Given the description of an element on the screen output the (x, y) to click on. 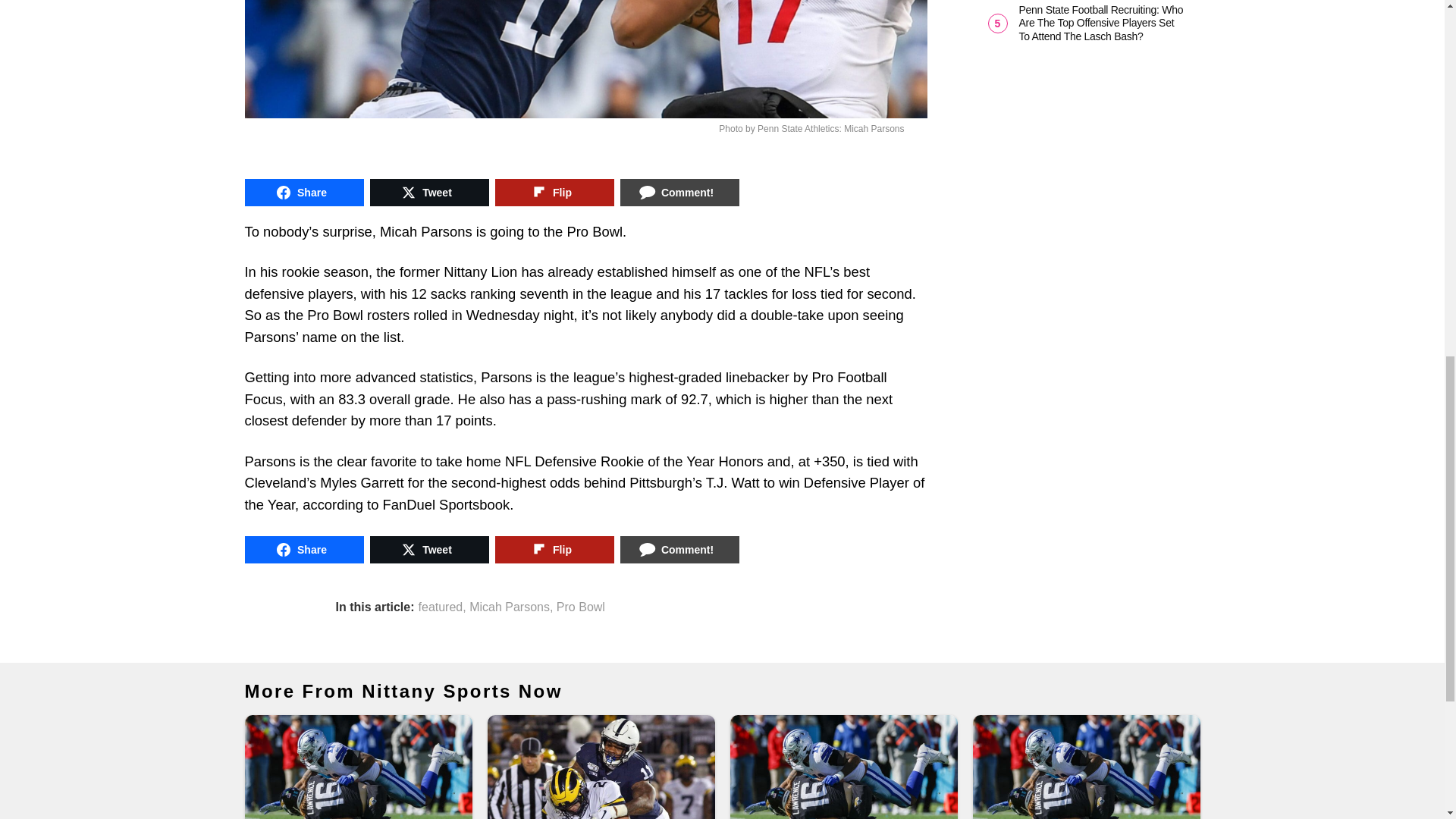
Share on Share (303, 192)
Share on Tweet (429, 192)
Share on Share (303, 549)
Share on Flip (553, 192)
Share on Comment! (679, 192)
Share on Comment! (679, 549)
Share on Flip (553, 549)
Share on Tweet (429, 549)
